Given the description of an element on the screen output the (x, y) to click on. 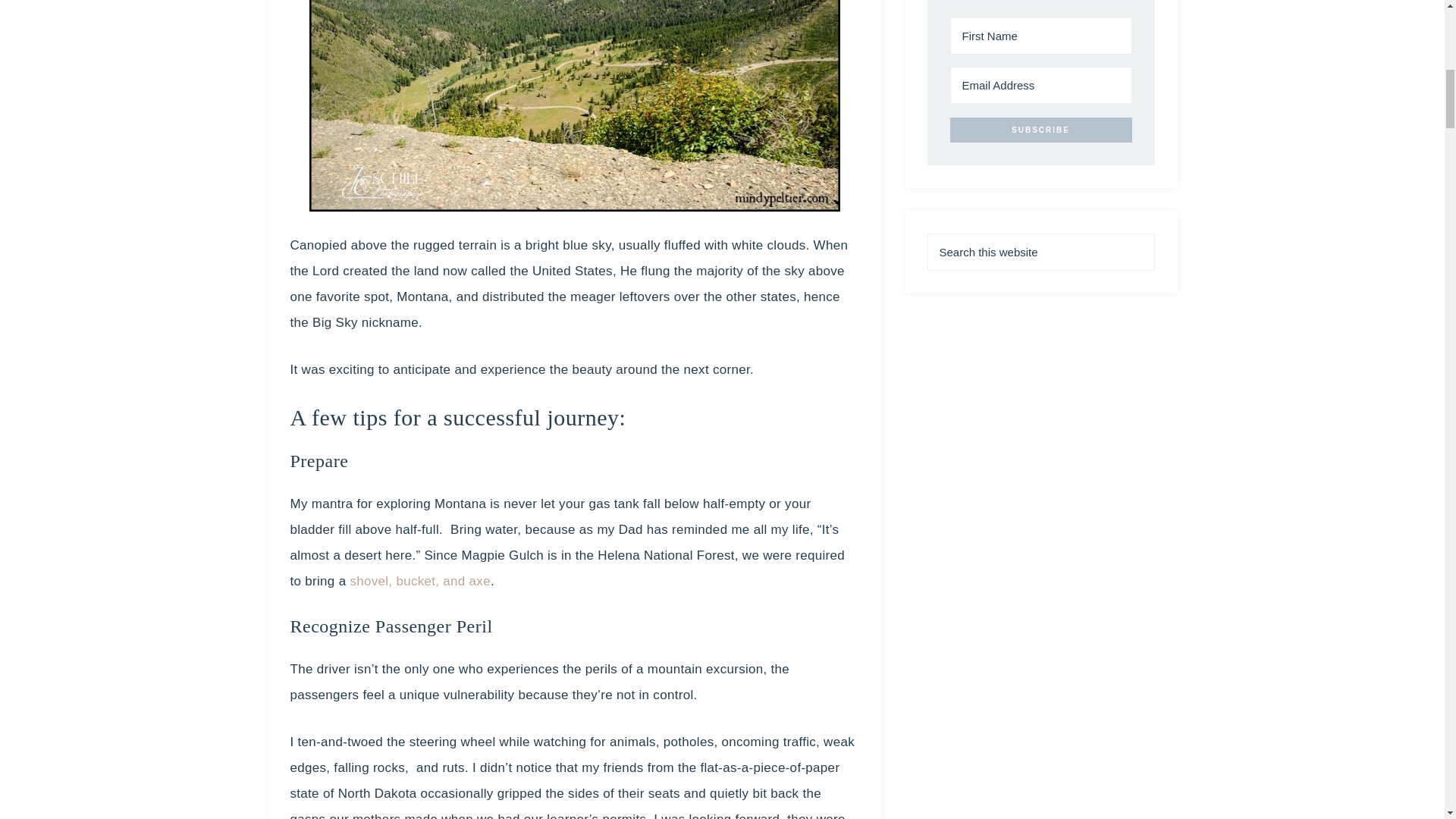
Subscribe (1040, 129)
Subscribe (1040, 129)
shovel, bucket, and axe (419, 581)
